Given the description of an element on the screen output the (x, y) to click on. 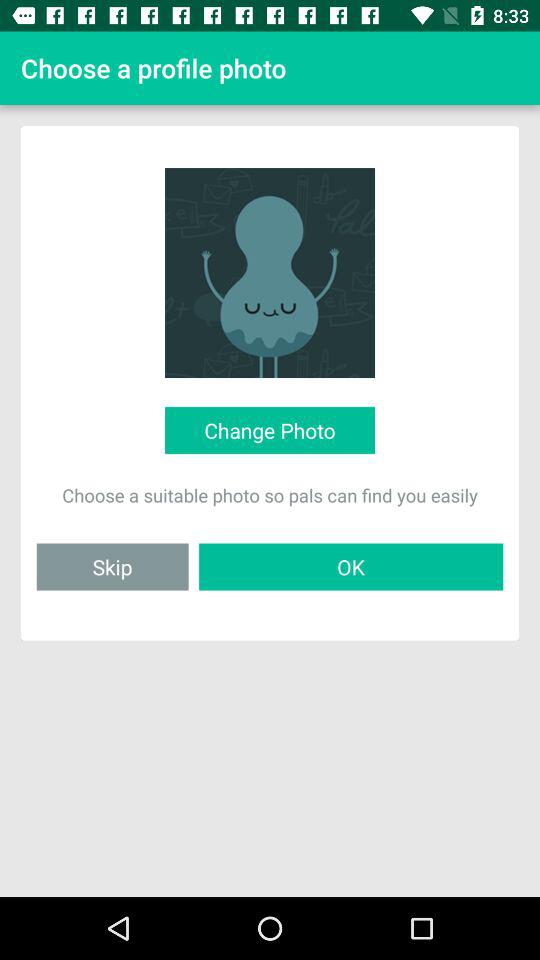
select icon above the choose a suitable (269, 430)
